Given the description of an element on the screen output the (x, y) to click on. 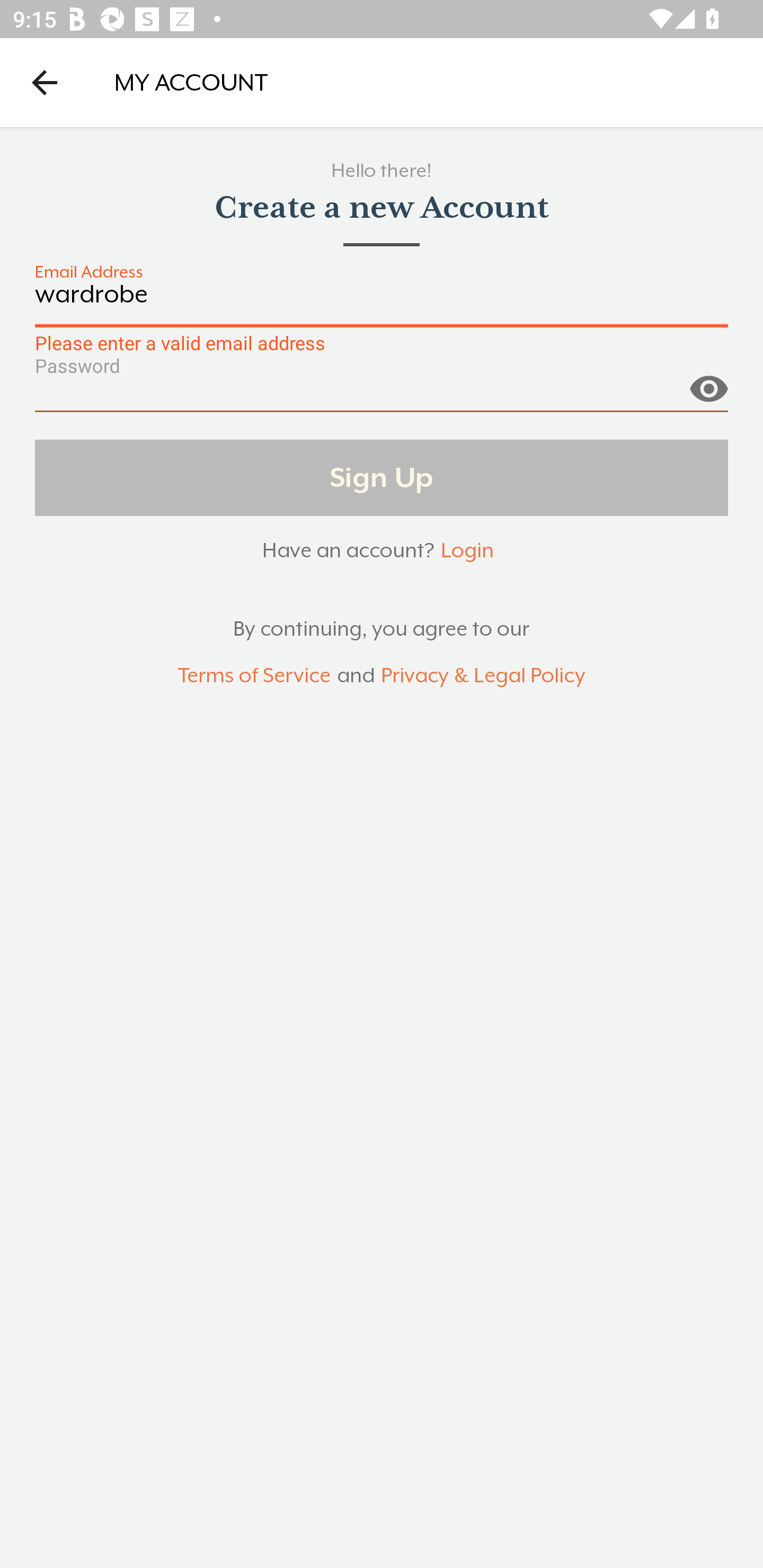
Navigate up (44, 82)
wardrobe (381, 304)
 (708, 381)
Password (381, 393)
Sign Up (381, 477)
Login (467, 550)
Terms of Service (253, 675)
Privacy & Legal Policy (483, 675)
